Given the description of an element on the screen output the (x, y) to click on. 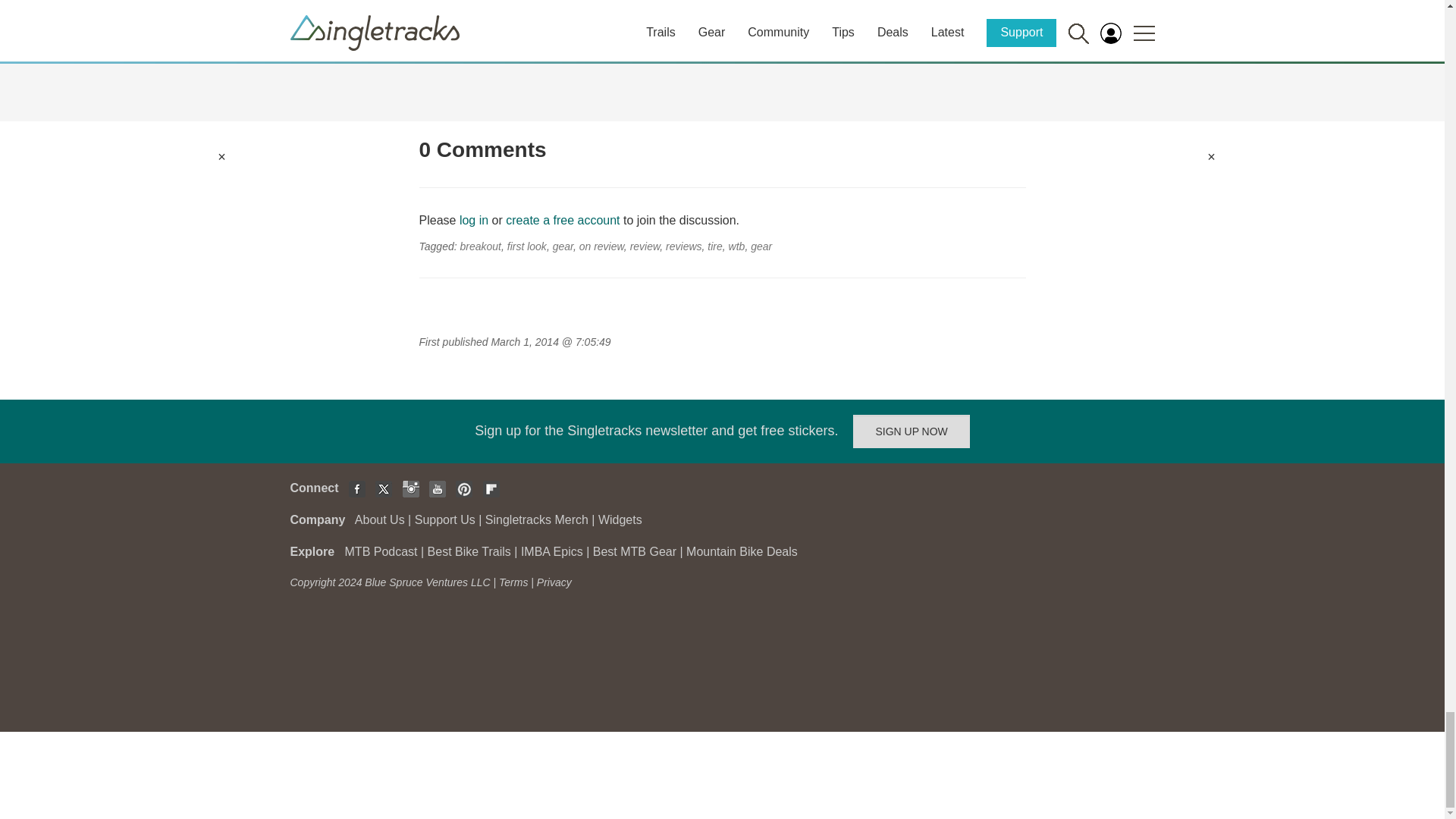
SIGN UP NOW (911, 430)
